Given the description of an element on the screen output the (x, y) to click on. 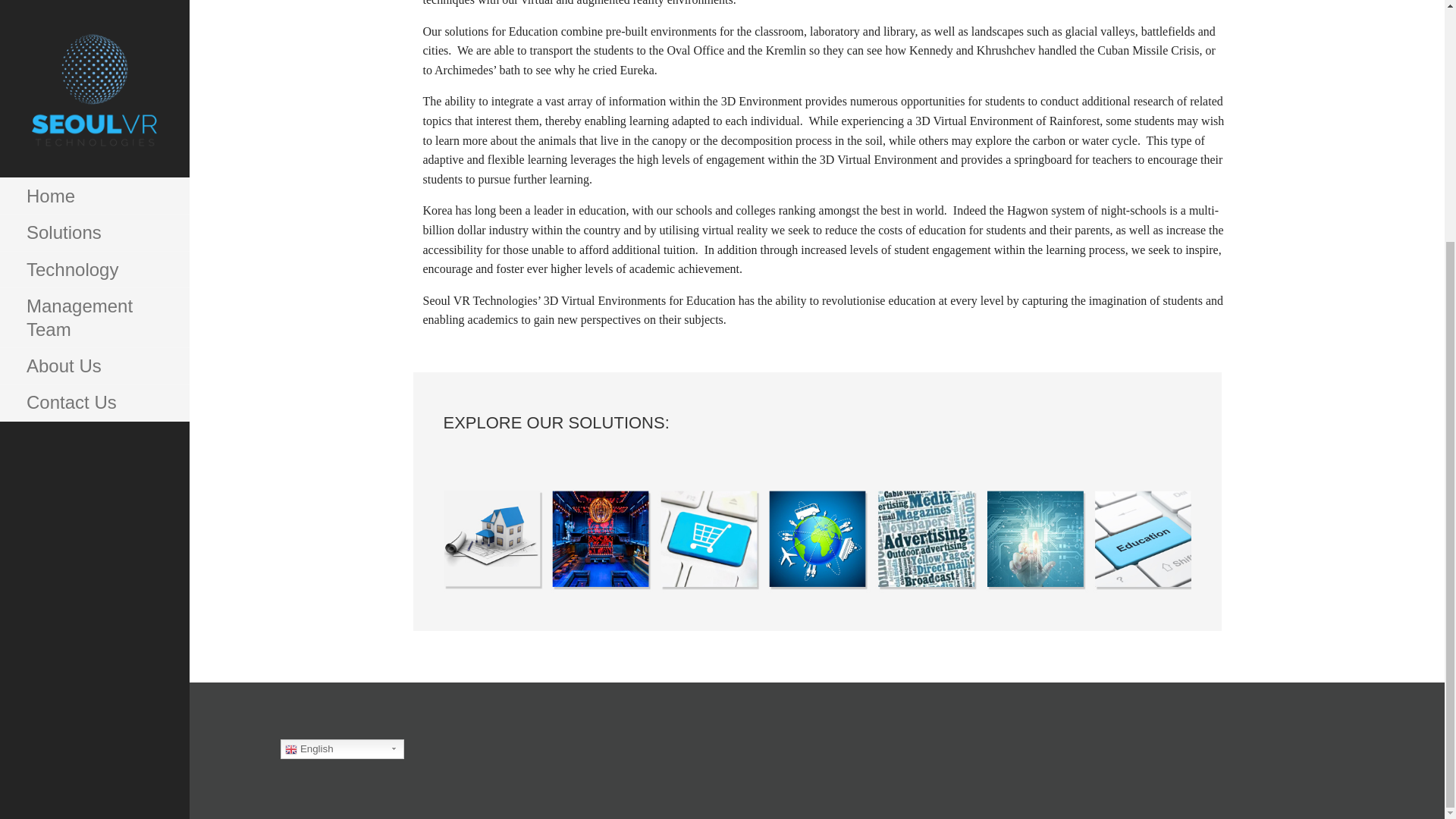
Contact Us (94, 67)
Management Team (94, 6)
About Us (94, 31)
English (342, 748)
